Given the description of an element on the screen output the (x, y) to click on. 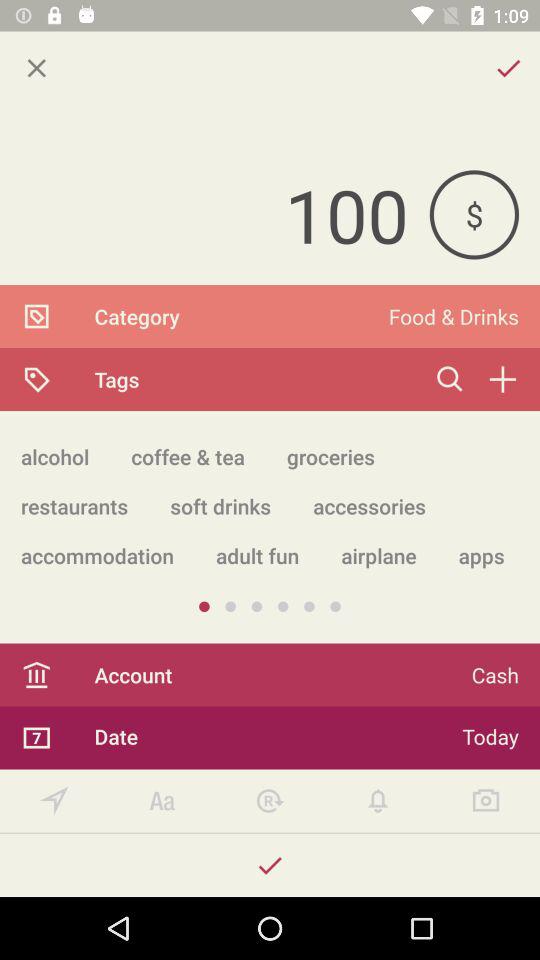
open the soft drinks item (220, 506)
